Given the description of an element on the screen output the (x, y) to click on. 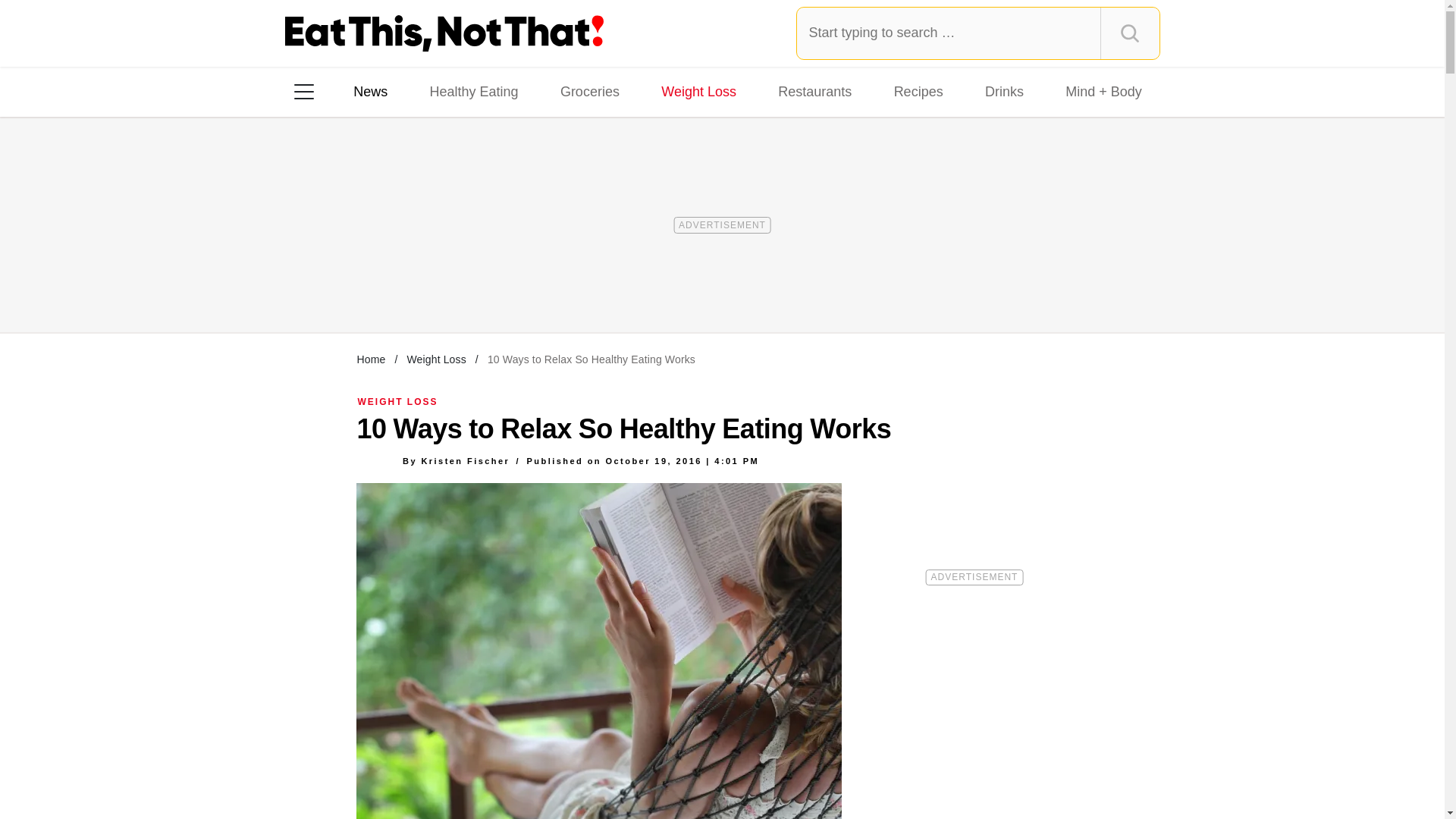
WEIGHT LOSS (398, 401)
Groceries (590, 91)
Facebook (314, 287)
Weight Loss (435, 358)
Type and press Enter to search (978, 32)
Instagram (357, 287)
TikTok (399, 287)
Pinterest (443, 287)
Recipes (918, 91)
Healthy Eating (473, 91)
